Given the description of an element on the screen output the (x, y) to click on. 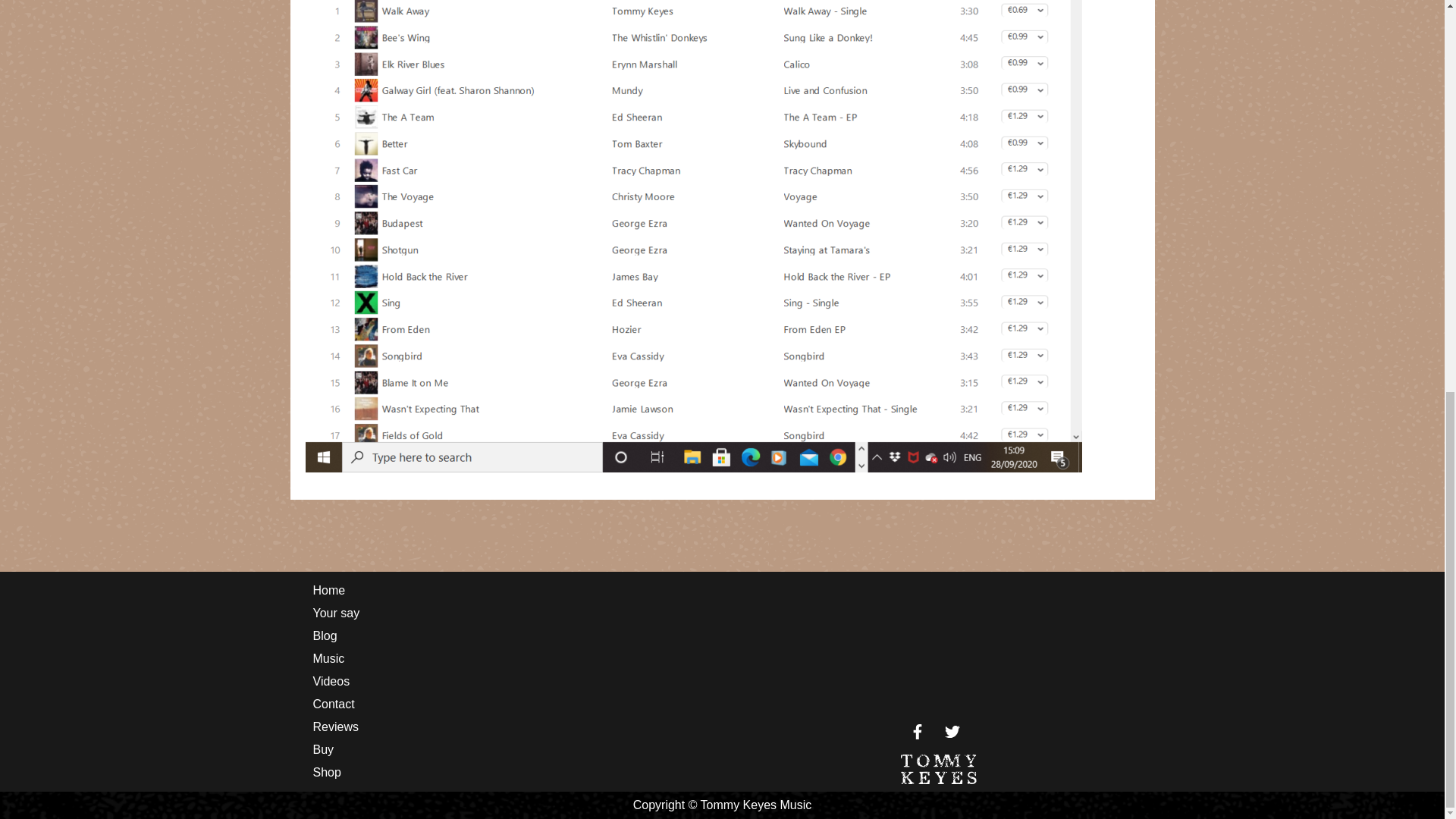
Blog (505, 635)
Buy (505, 749)
Music (505, 658)
Home (505, 590)
Your say (505, 612)
Reviews (505, 726)
Videos (505, 681)
Shop (505, 772)
Contact (505, 703)
